Given the description of an element on the screen output the (x, y) to click on. 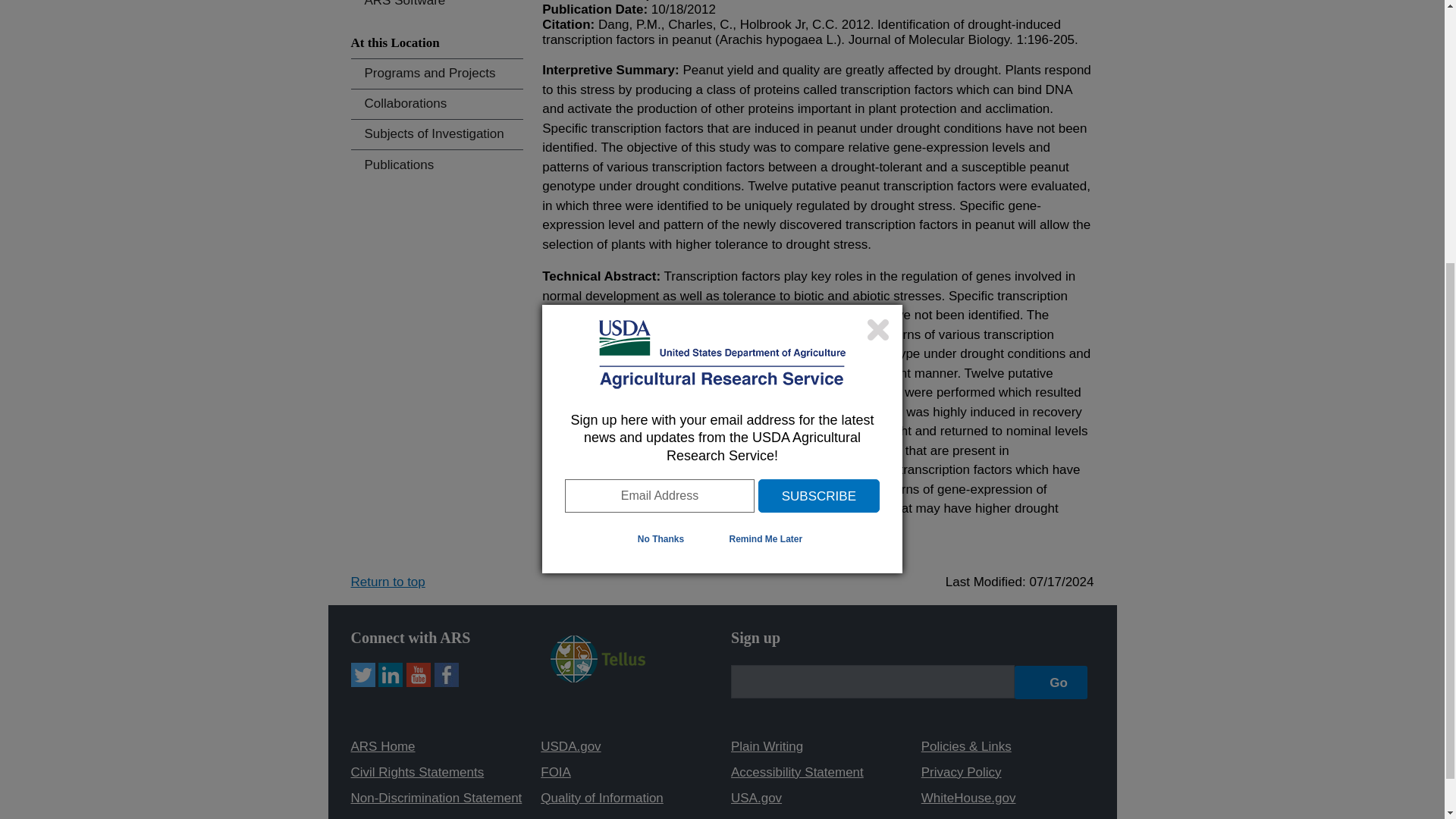
email (872, 681)
Go (1050, 682)
Email Address (659, 94)
Youtube (418, 674)
LinkedIn (390, 674)
Tellus (597, 677)
Twitter (362, 674)
Subscribe (818, 94)
Tellus (597, 658)
Facebook Icon (445, 674)
Programs and Projects (436, 73)
ARS Software (436, 7)
